Given the description of an element on the screen output the (x, y) to click on. 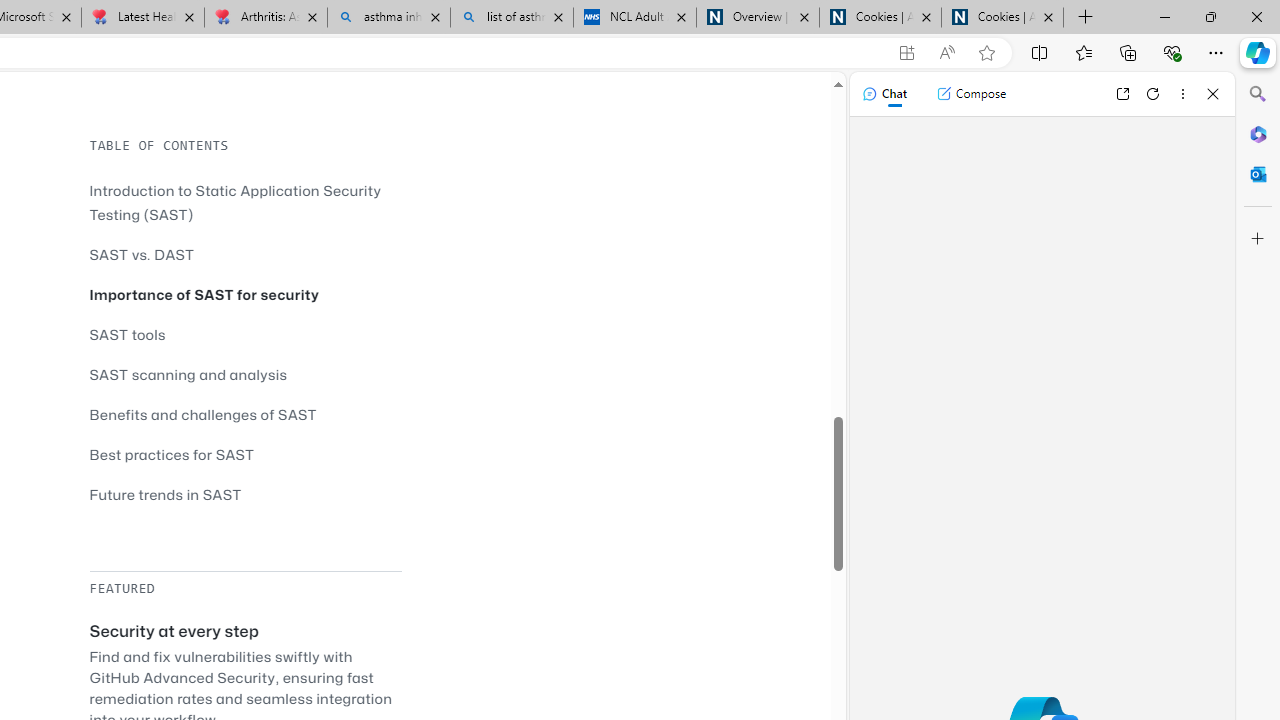
asthma inhaler - Search (388, 17)
More options (1182, 93)
Close Customize pane (1258, 239)
Cookies | About | NICE (1002, 17)
Future trends in SAST (245, 493)
Outlook (1258, 174)
Benefits and challenges of SAST (245, 413)
SAST scanning and analysis (245, 374)
Benefits and challenges of SAST (203, 414)
SAST tools (127, 334)
NCL Adult Asthma Inhaler Choice Guideline (634, 17)
Best practices for SAST (245, 454)
Introduction to Static Application Security Testing (SAST) (235, 202)
Importance of SAST for security (204, 294)
